Given the description of an element on the screen output the (x, y) to click on. 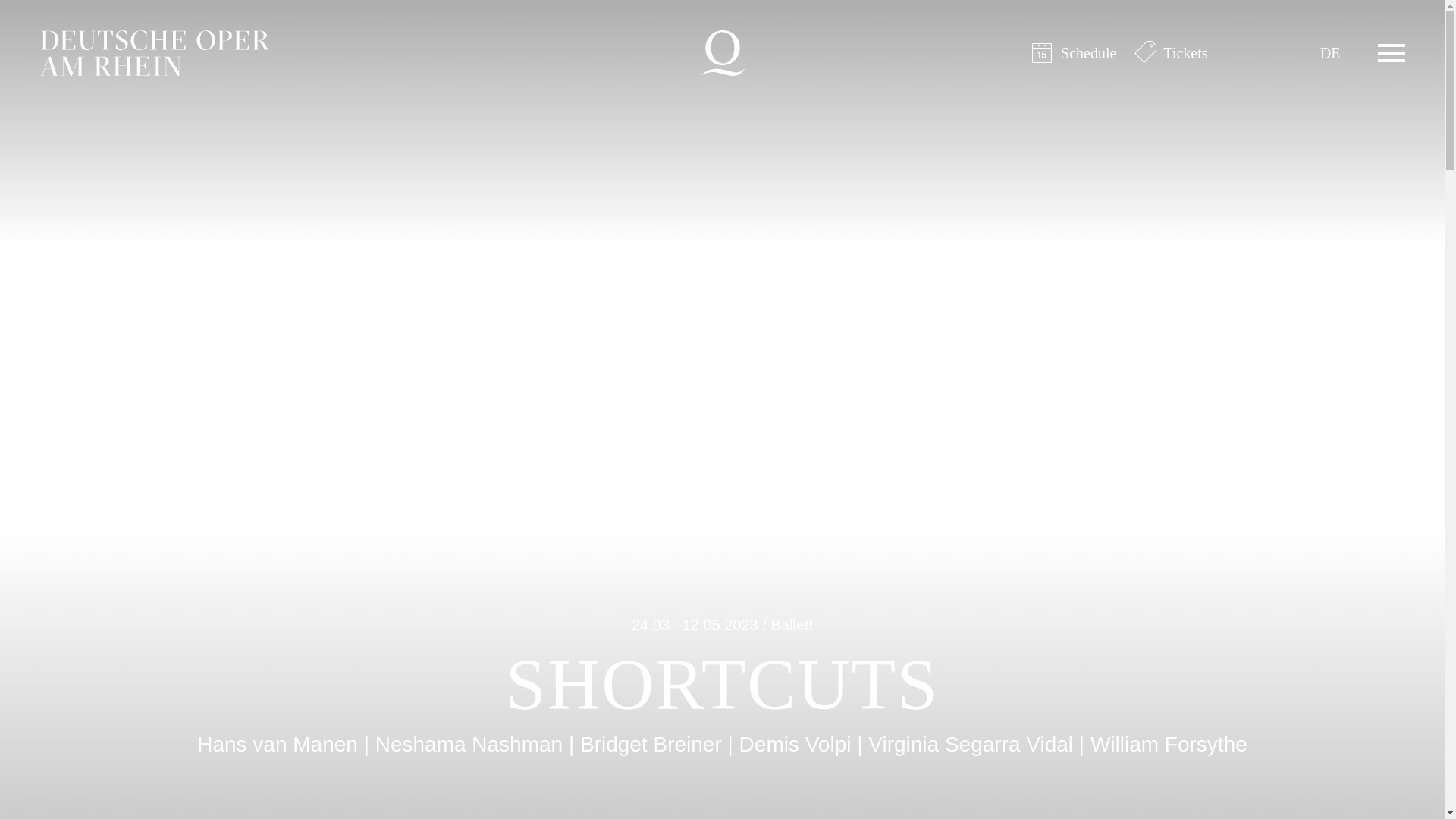
Deutsche Oper am Rhein (721, 53)
Deutsche Oper am Rhein (153, 53)
DE (1330, 53)
Tickets (1170, 53)
Schedule (1074, 53)
